Given the description of an element on the screen output the (x, y) to click on. 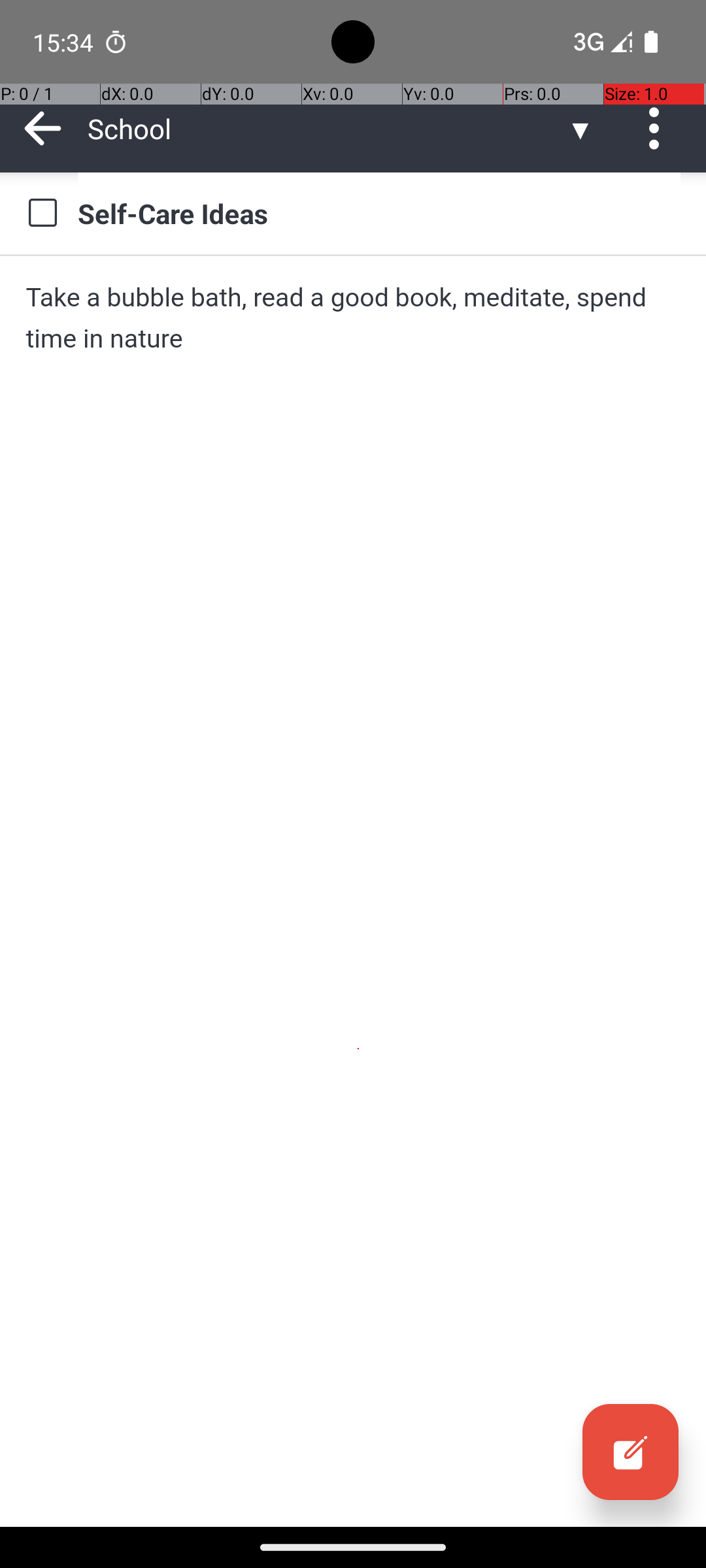
Self-Care Ideas Element type: android.widget.EditText (378, 213)
Take a bubble bath, read a good book, meditate, spend time in nature Element type: android.widget.TextView (352, 317)
